Given the description of an element on the screen output the (x, y) to click on. 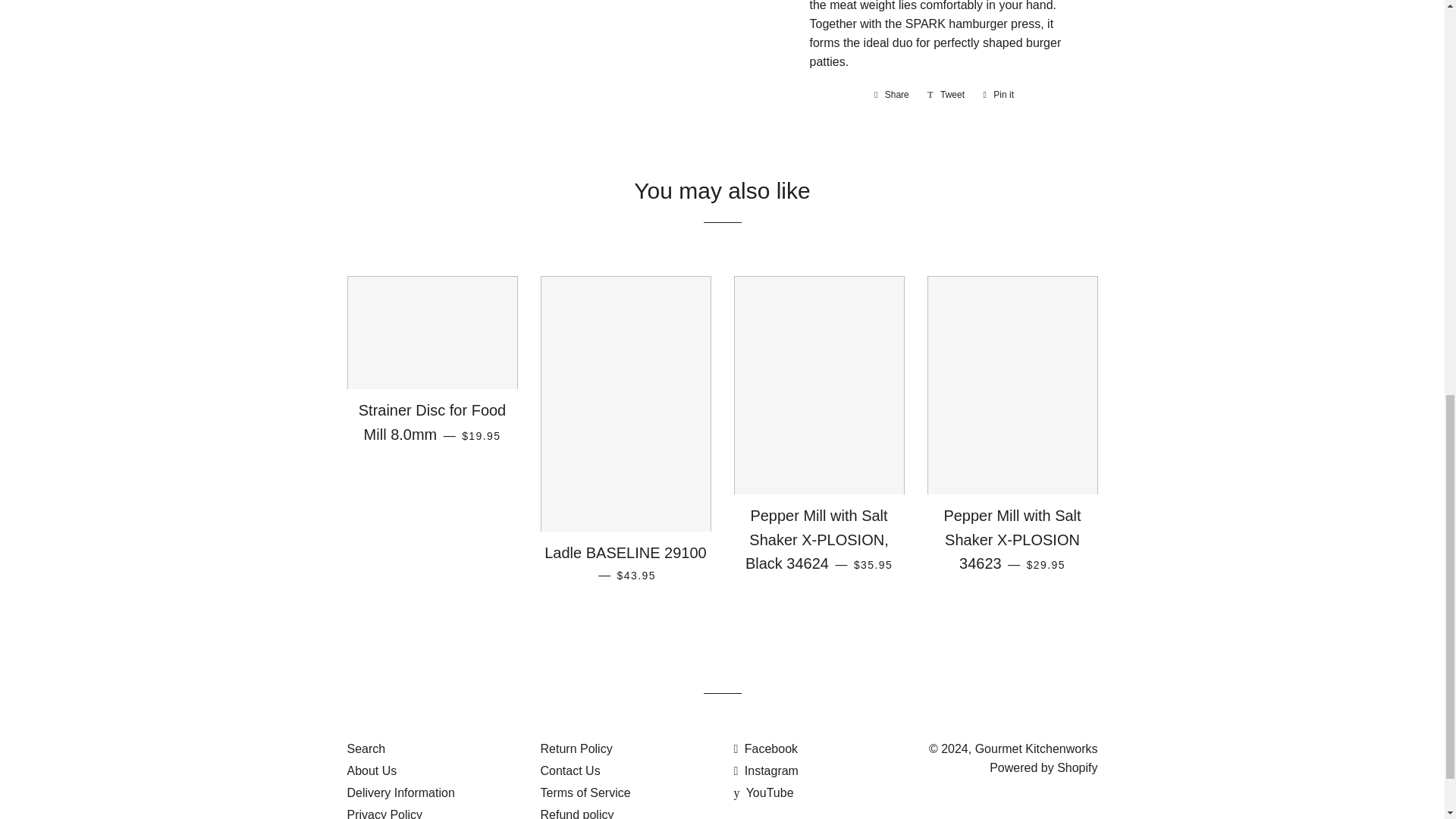
Share on Facebook (891, 94)
Pin on Pinterest (998, 94)
Gourmet Kitchenworks on YouTube (763, 792)
Gourmet Kitchenworks on Instagram (765, 770)
Gourmet Kitchenworks on Facebook (765, 748)
Tweet on Twitter (946, 94)
